Given the description of an element on the screen output the (x, y) to click on. 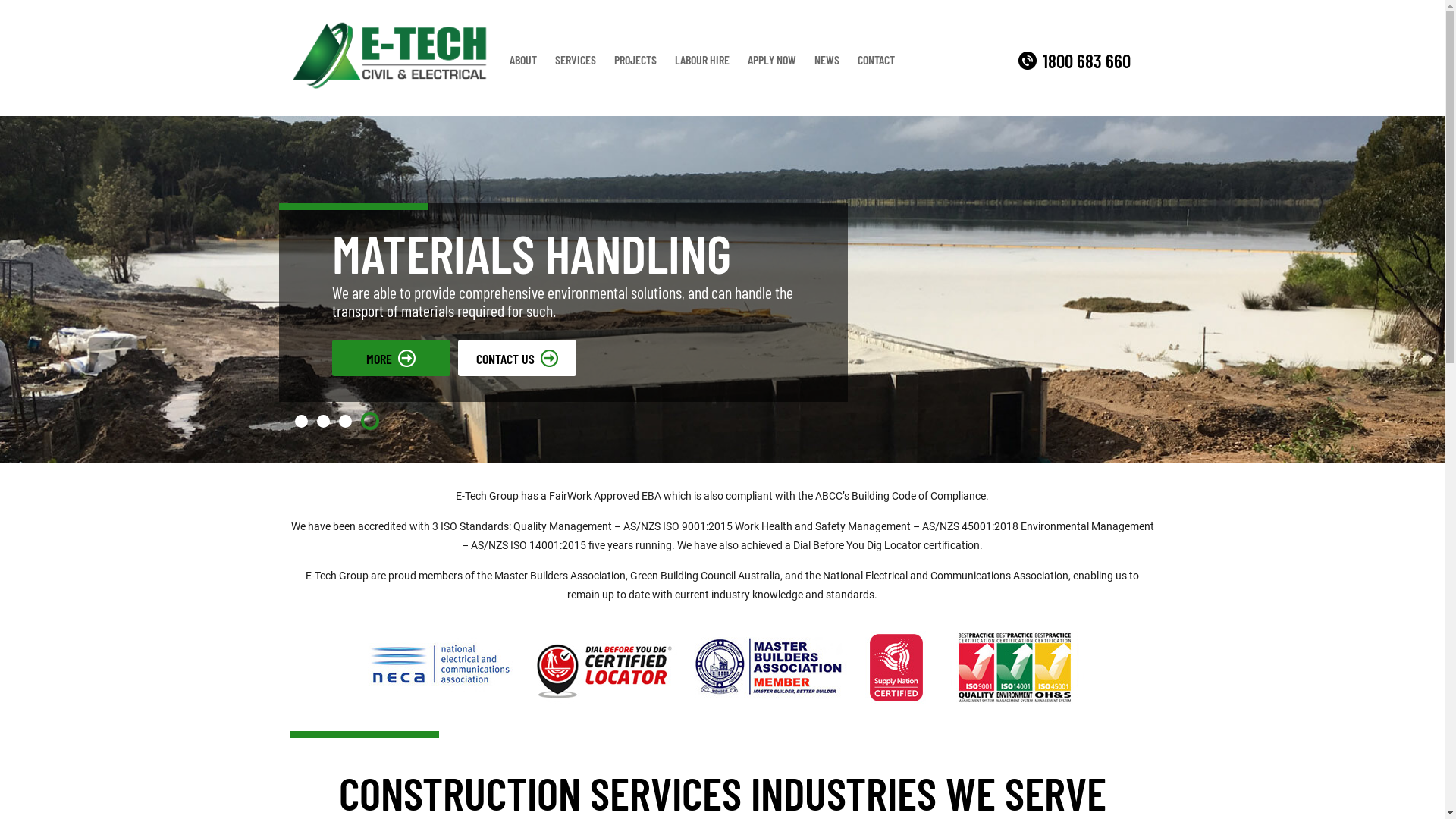
SERVICES Element type: text (575, 59)
CONTACT US Element type: text (517, 357)
1 Element type: text (300, 420)
ABOUT Element type: text (523, 59)
CONTACT Element type: text (875, 59)
NEWS Element type: text (826, 59)
3 Element type: text (344, 420)
MORE Element type: text (391, 357)
APPLY NOW Element type: text (771, 59)
1800 683 660 Element type: text (1073, 60)
4 Element type: text (369, 420)
PROJECTS Element type: text (635, 59)
2 Element type: text (322, 420)
LABOUR HIRE Element type: text (701, 59)
